Given the description of an element on the screen output the (x, y) to click on. 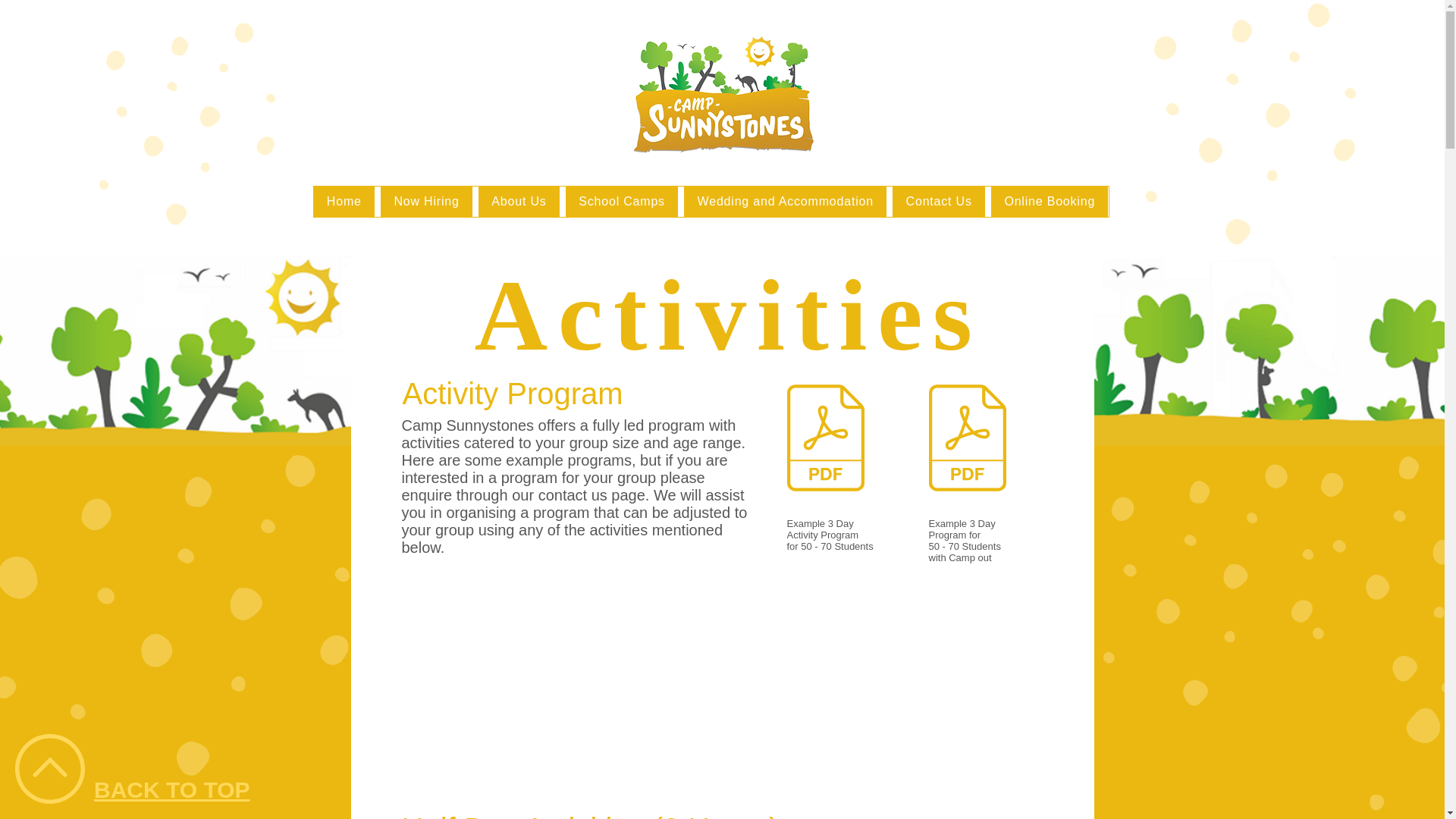
BACK TO TOP (172, 789)
School Camps (622, 201)
Contact Us (938, 201)
Home (344, 201)
Online Booking (1049, 201)
contact us (572, 494)
About Us (519, 201)
Wedding and Accommodation (785, 201)
Now Hiring (425, 201)
